Given the description of an element on the screen output the (x, y) to click on. 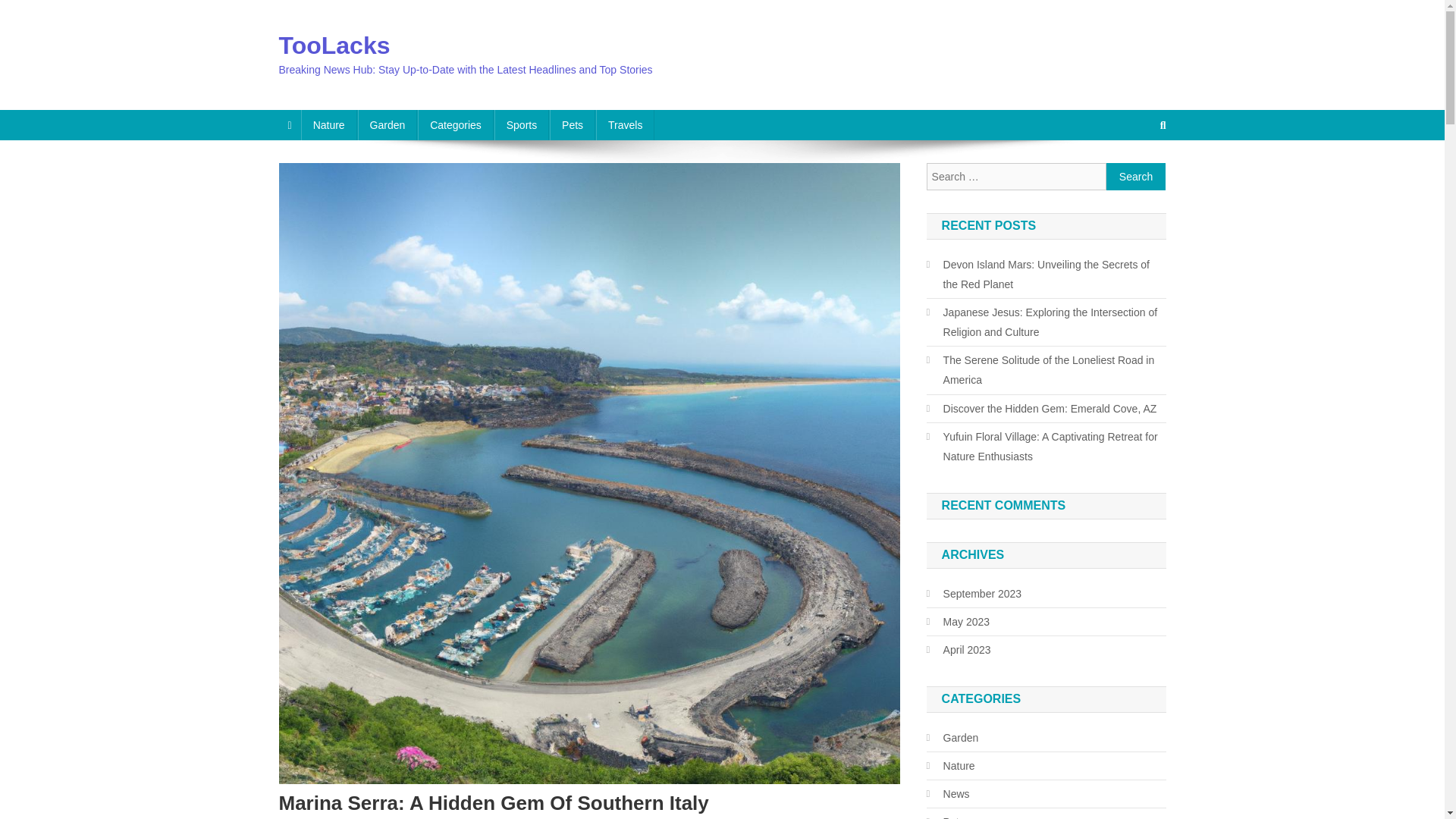
Search (1136, 176)
May 2023 (958, 621)
Search (1136, 176)
The Serene Solitude of the Loneliest Road in America (1046, 369)
TooLacks (334, 44)
Nature (328, 124)
Travels (624, 124)
Search (1133, 175)
Pets (572, 124)
Devon Island Mars: Unveiling the Secrets of the Red Planet (1046, 274)
Garden (387, 124)
Categories (455, 124)
Search (1136, 176)
